Given the description of an element on the screen output the (x, y) to click on. 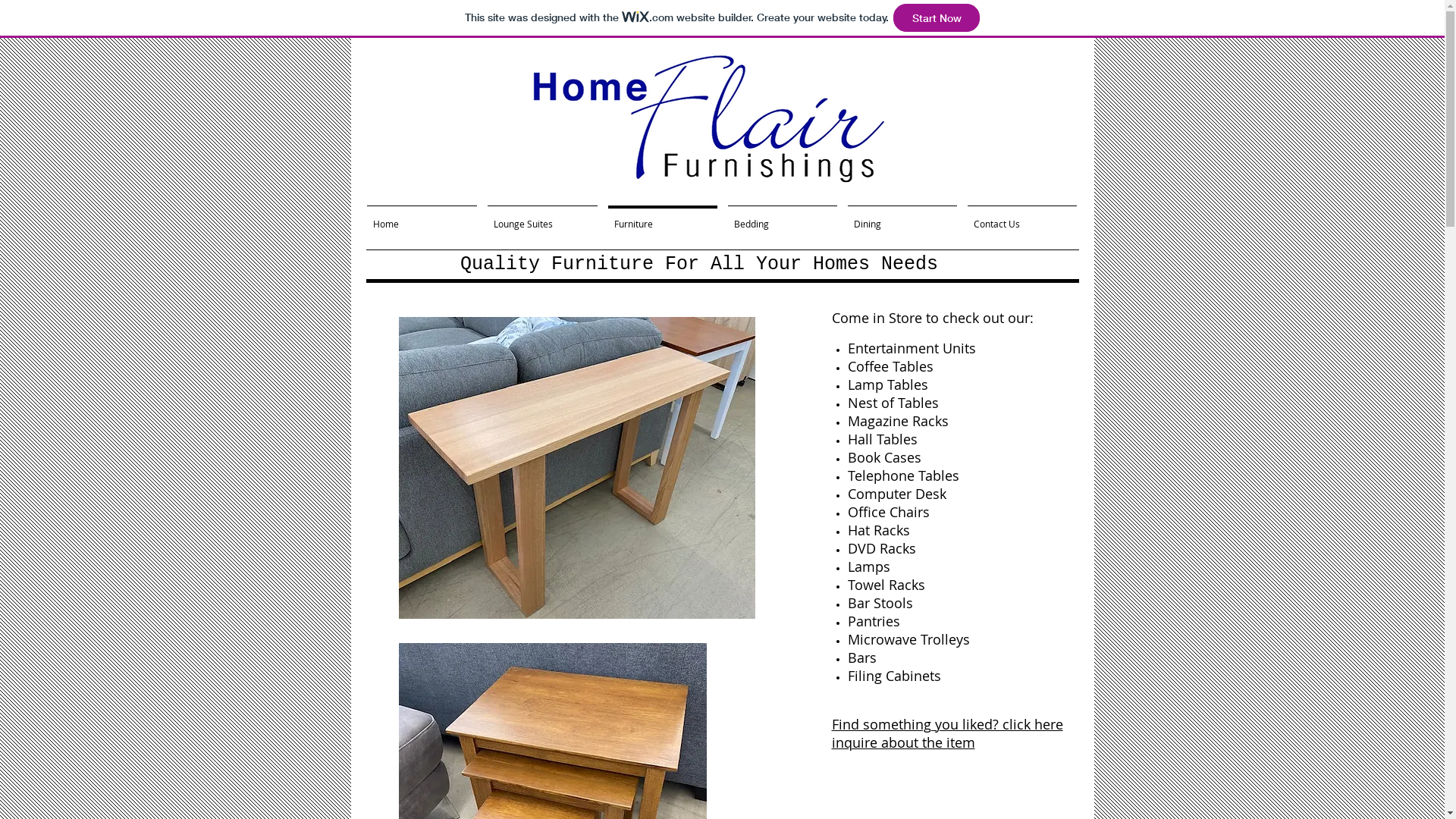
Furniture Element type: text (661, 216)
Home Element type: text (420, 216)
Bedding Element type: text (781, 216)
Lounge Suites Element type: text (542, 216)
Contact Us Element type: text (1021, 216)
Dining Element type: text (901, 216)
Find something you liked? click here inquire about the item Element type: text (946, 733)
Homeflair Furnishings Port Pirie Element type: hover (706, 122)
